Given the description of an element on the screen output the (x, y) to click on. 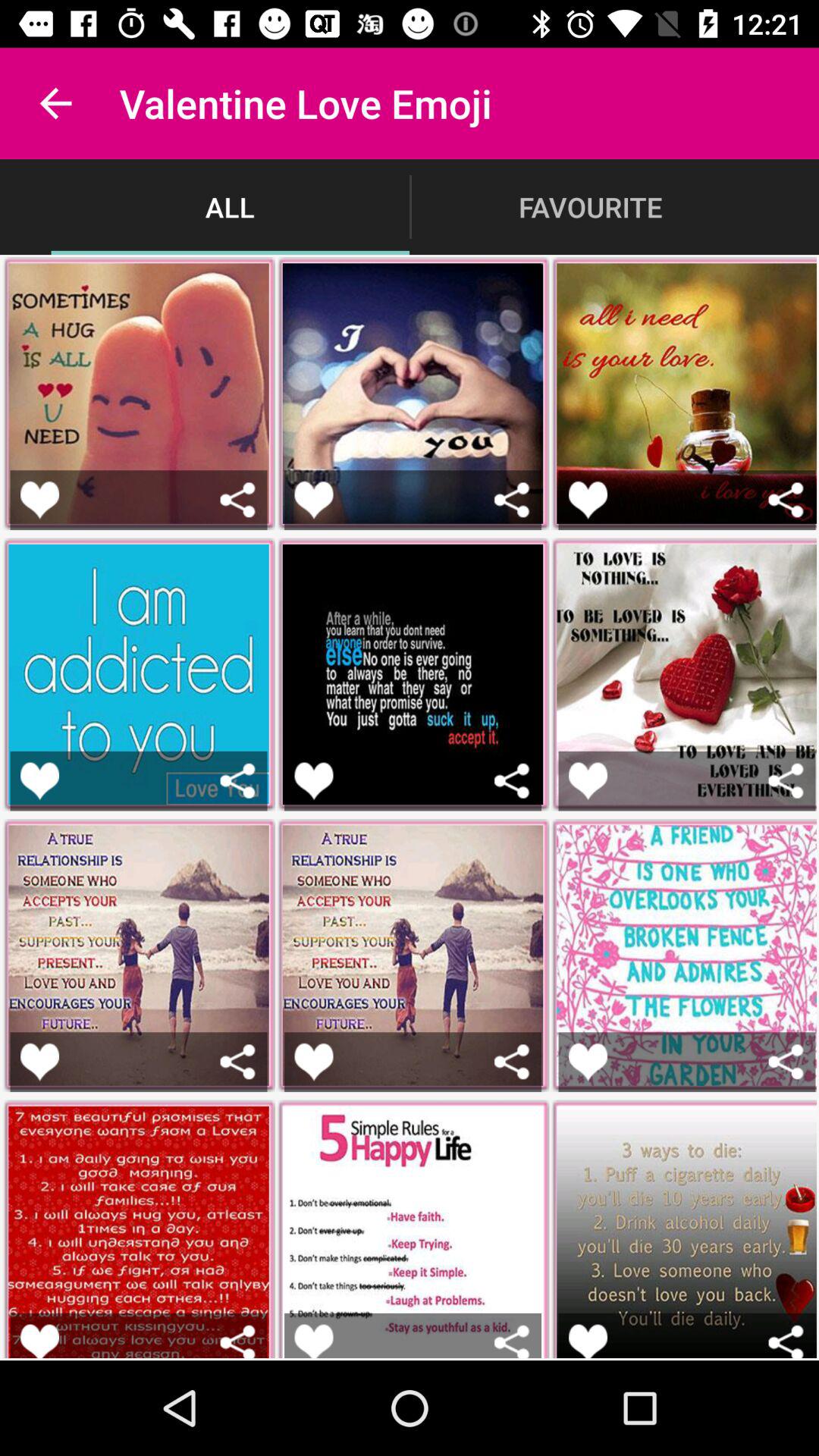
share photo (237, 1061)
